Given the description of an element on the screen output the (x, y) to click on. 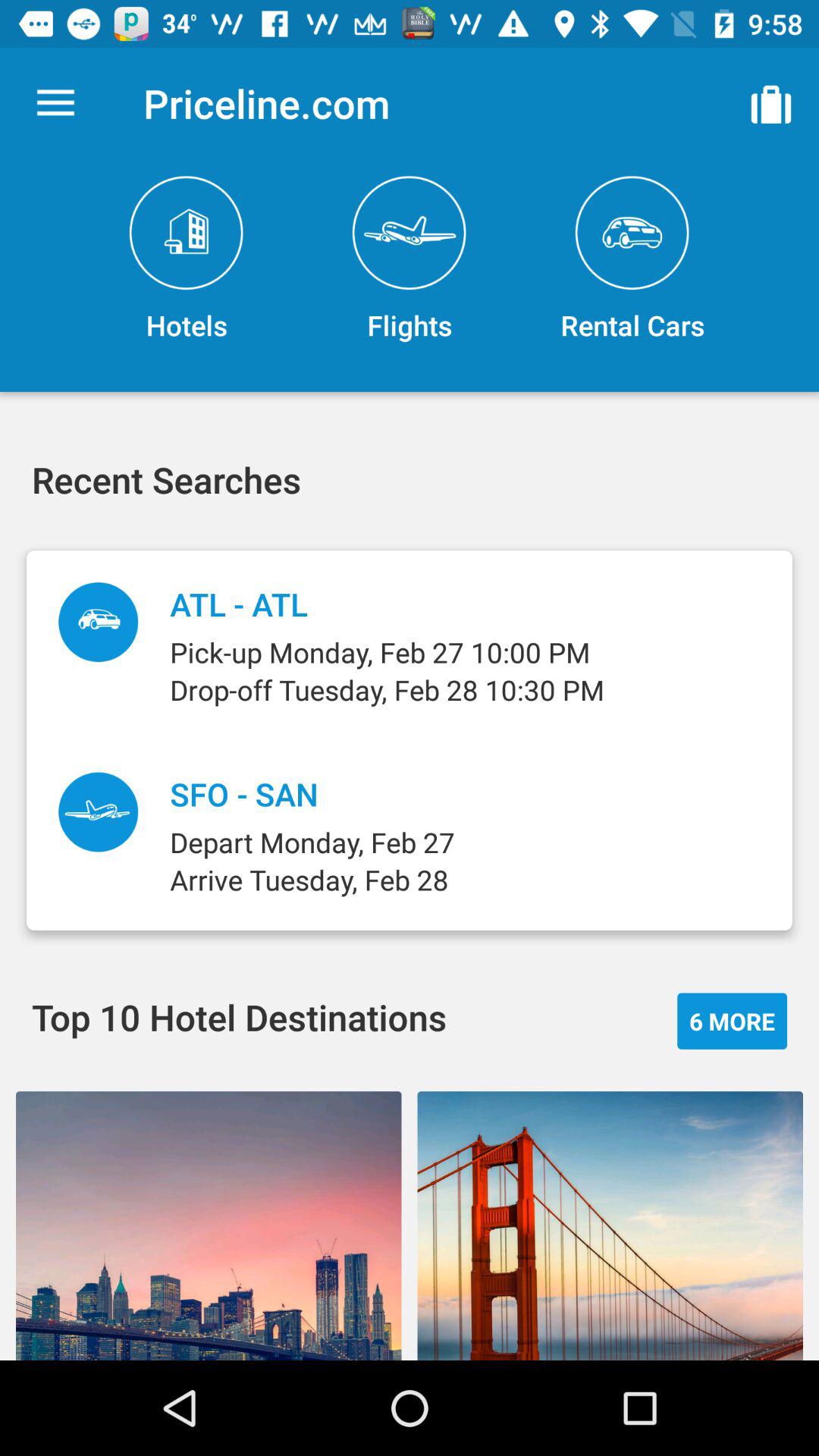
tap the icon to the right of top 10 hotel item (732, 1021)
